Given the description of an element on the screen output the (x, y) to click on. 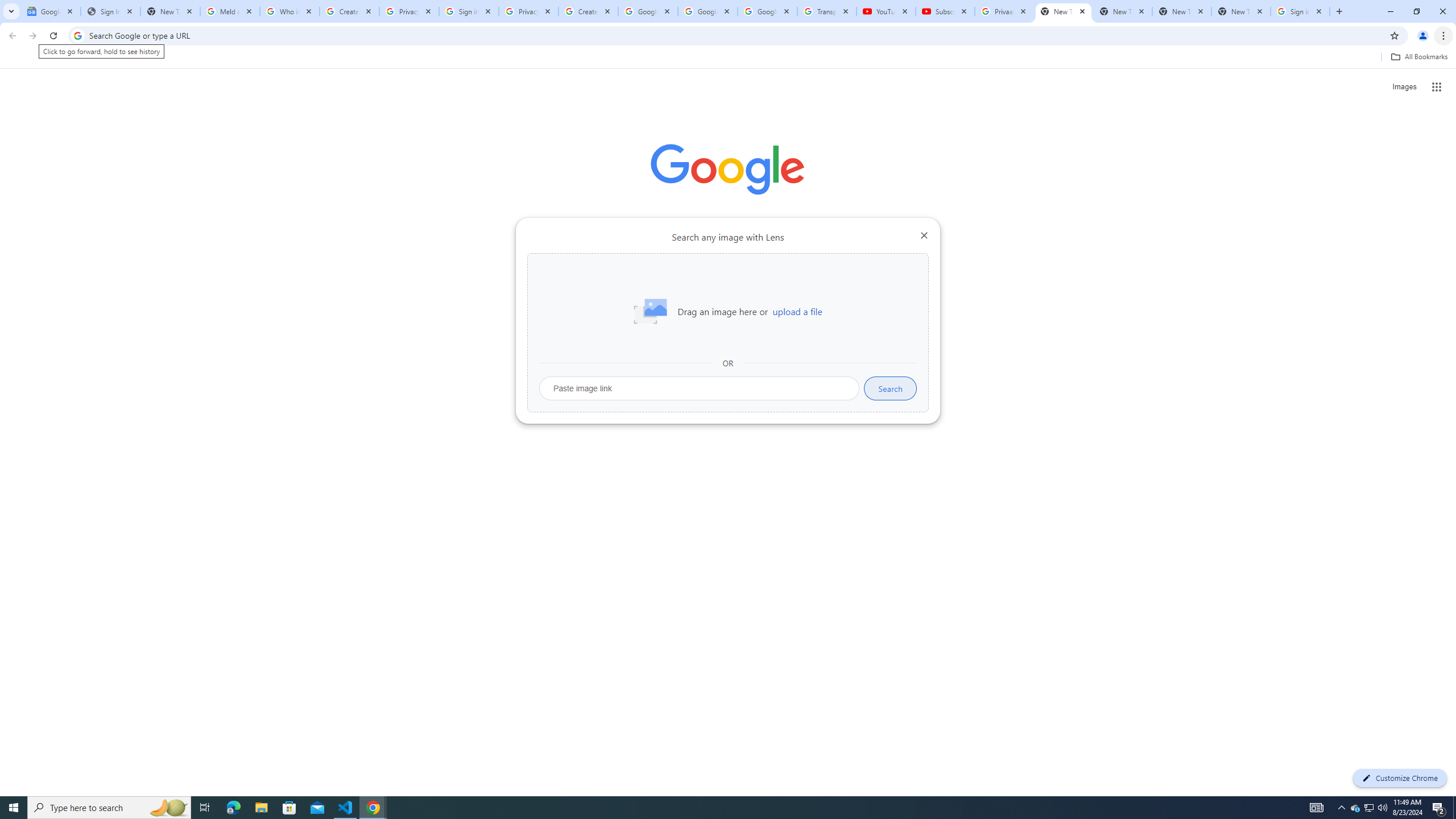
Options (59, 753)
Save As (59, 380)
Export (59, 536)
Back (59, 54)
